Given the description of an element on the screen output the (x, y) to click on. 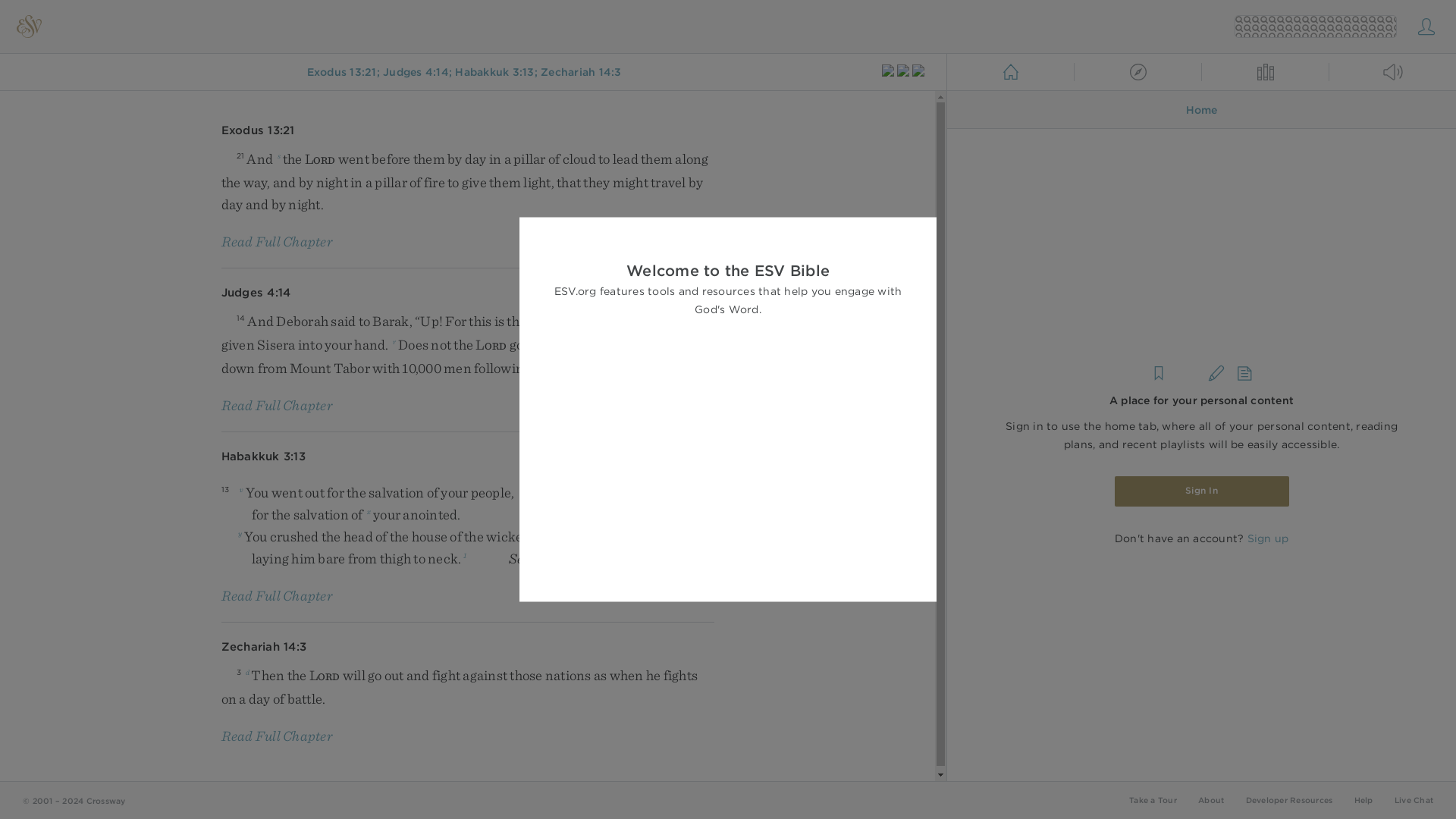
Read Full Chapter (277, 240)
Live Chat (1413, 800)
Sign In (1201, 490)
Take a Tour (1152, 800)
Sign up (1267, 538)
About (1211, 800)
Read Full Chapter (277, 404)
Help (1363, 800)
Read Full Chapter (277, 735)
Developer Resources (1288, 800)
